Given the description of an element on the screen output the (x, y) to click on. 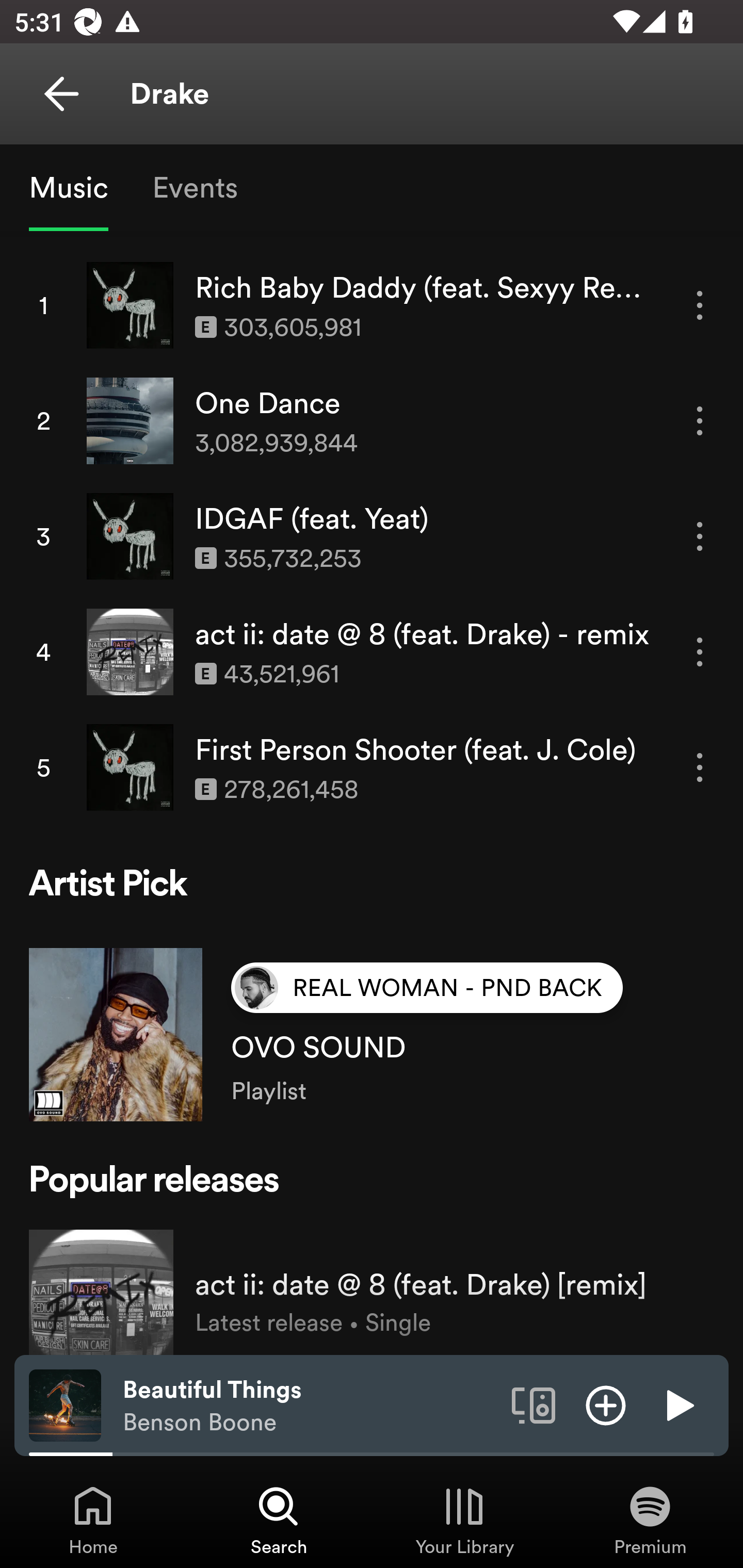
Back (60, 93)
Events (194, 187)
More options for song One Dance (699, 420)
More options for song IDGAF (feat. Yeat) (699, 536)
REAL WOMAN - PND BACK  OVO SOUND Playlist (371, 1019)
Beautiful Things Benson Boone (309, 1405)
The cover art of the currently playing track (64, 1404)
Connect to a device. Opens the devices menu (533, 1404)
Add item (605, 1404)
Play (677, 1404)
Home, Tab 1 of 4 Home Home (92, 1519)
Search, Tab 2 of 4 Search Search (278, 1519)
Your Library, Tab 3 of 4 Your Library Your Library (464, 1519)
Premium, Tab 4 of 4 Premium Premium (650, 1519)
